Given the description of an element on the screen output the (x, y) to click on. 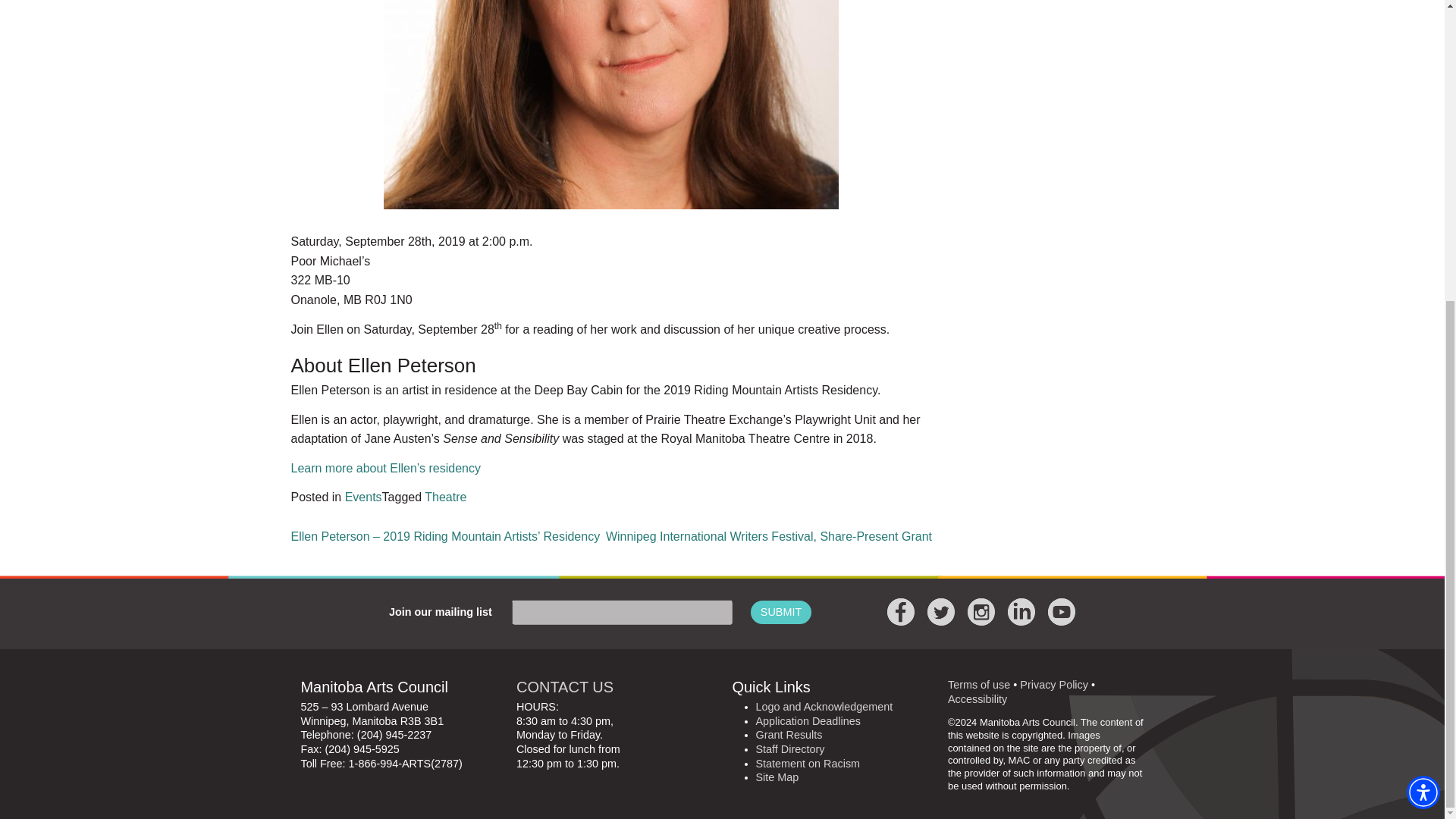
YouTube (1061, 611)
Events (363, 496)
Winnipeg International Writers Festival, Share-Present Grant (768, 535)
Theatre (445, 496)
Submit (780, 612)
Facebook (900, 611)
LinkedIn (1021, 611)
Twitter (941, 611)
Accessibility Menu (1422, 323)
Instagram (981, 611)
